Given the description of an element on the screen output the (x, y) to click on. 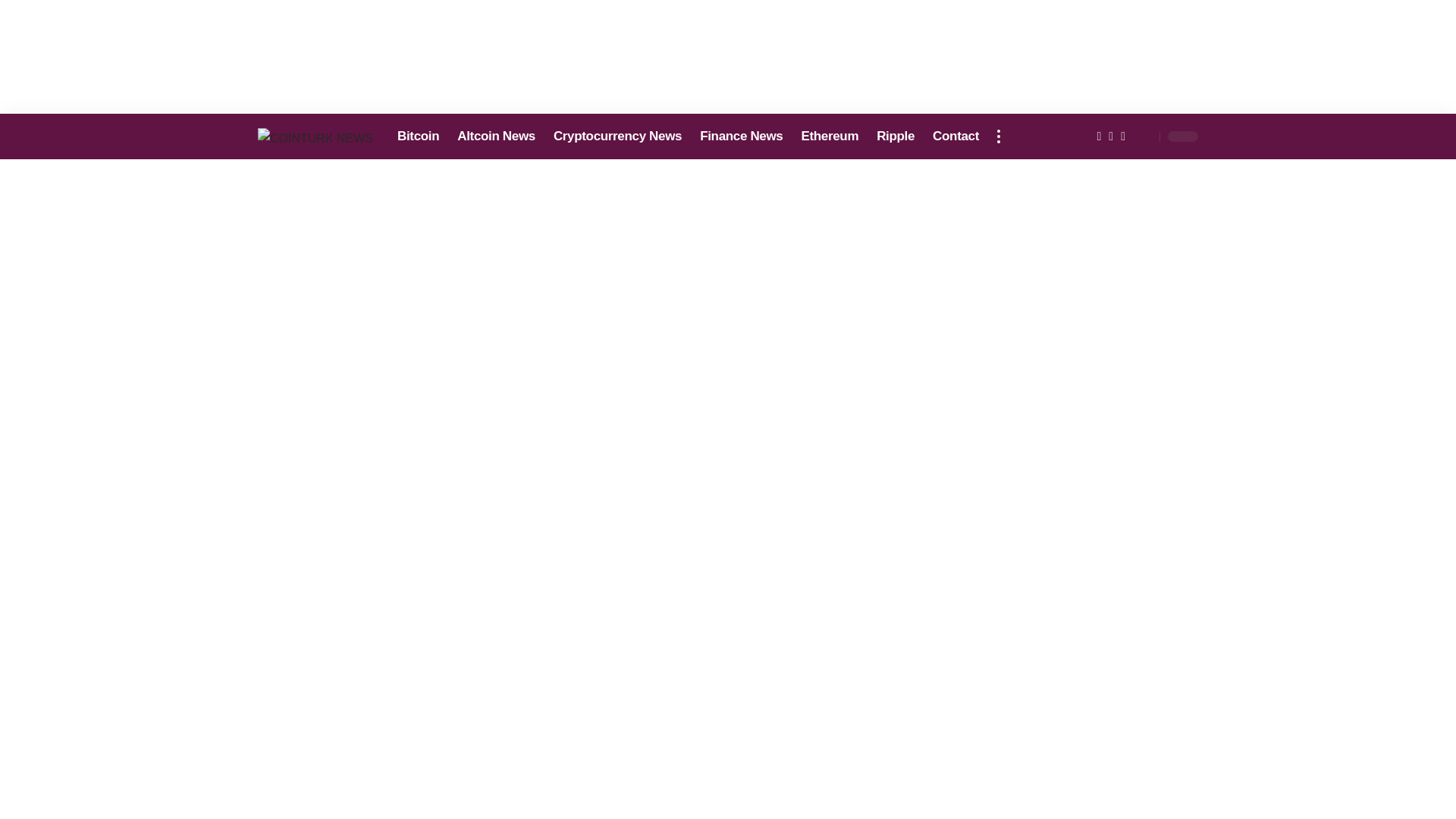
COINTURK NEWS (314, 135)
